Given the description of an element on the screen output the (x, y) to click on. 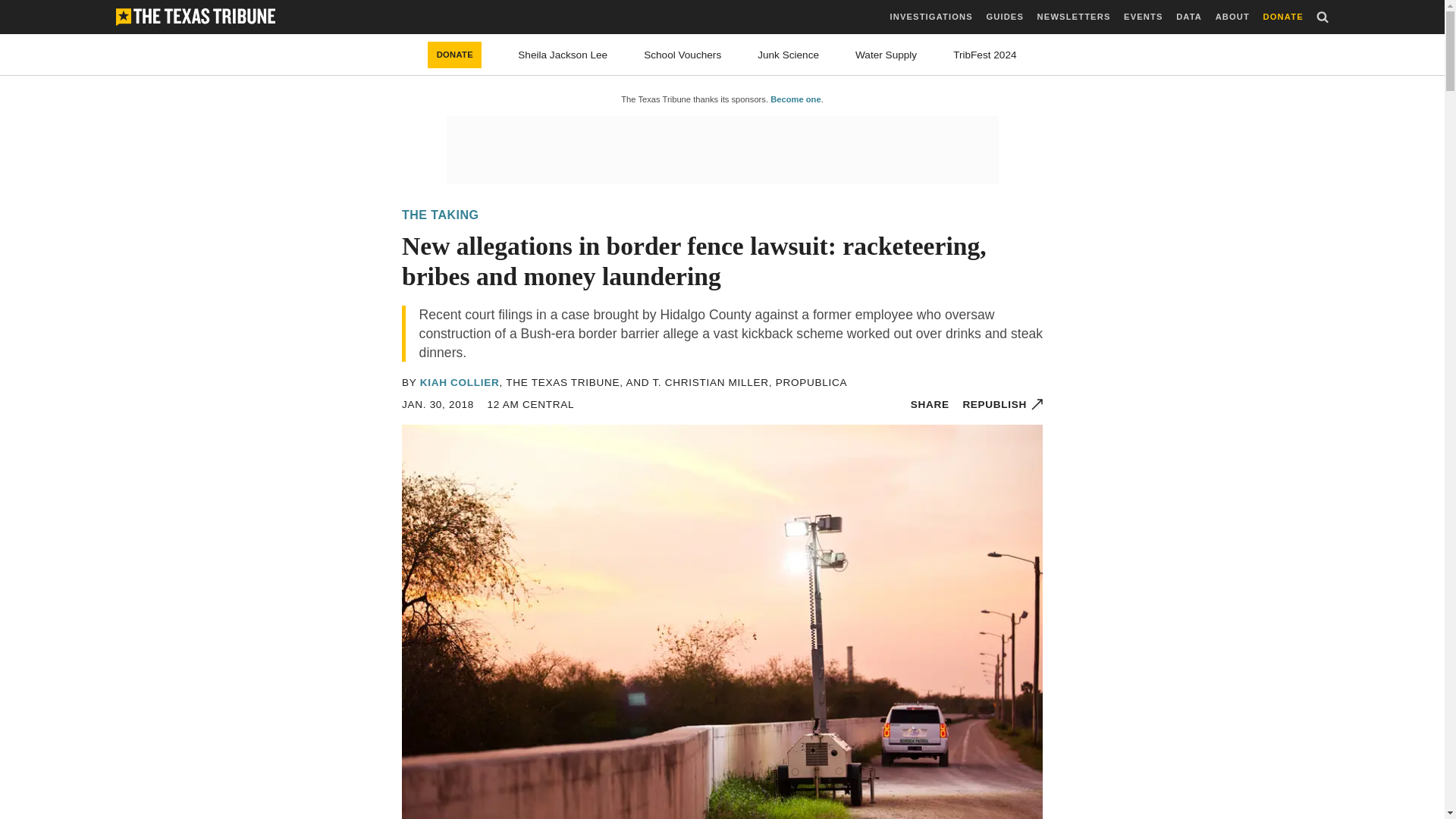
2018-01-30 00:01 CST (437, 404)
Water Supply (886, 54)
ABOUT (1232, 17)
NEWSLETTERS (1073, 17)
School Vouchers (681, 54)
2018-01-30 00:01 CST (531, 404)
TribFest 2024 (984, 54)
KIAH COLLIER (459, 382)
GUIDES (1004, 17)
EVENTS (1142, 17)
